Given the description of an element on the screen output the (x, y) to click on. 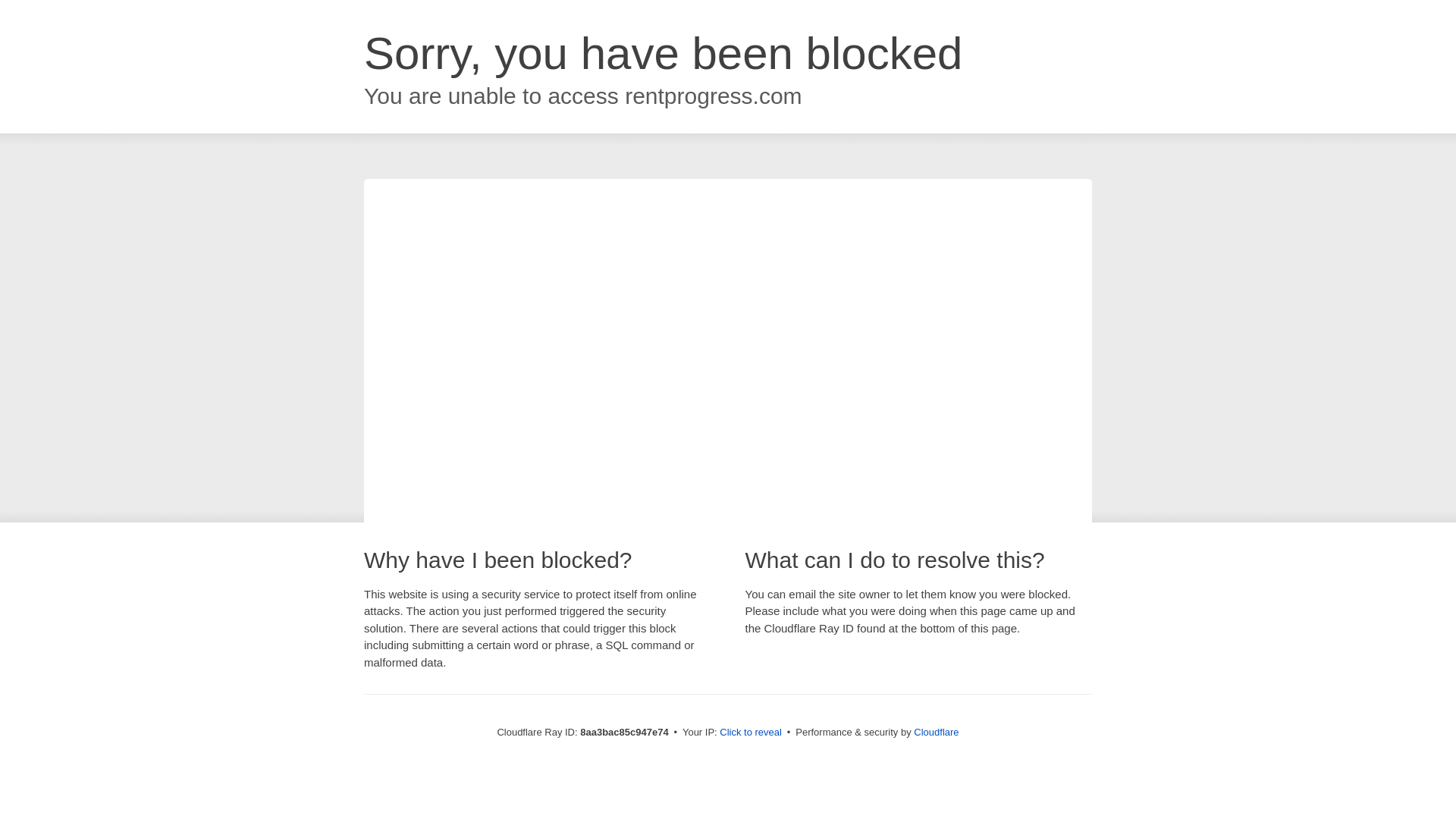
Click to reveal (750, 732)
Cloudflare (936, 731)
